Given the description of an element on the screen output the (x, y) to click on. 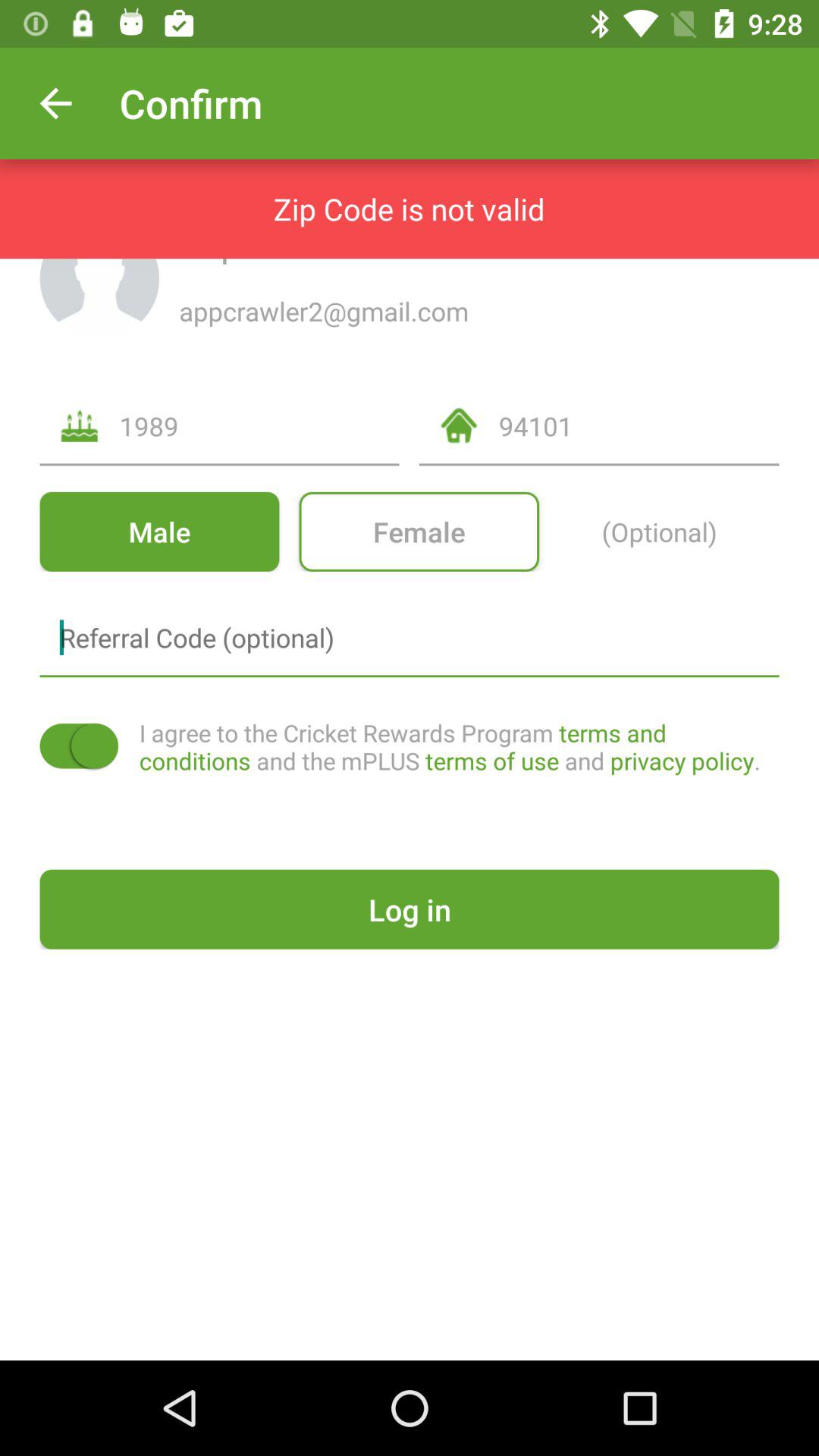
tap female item (419, 531)
